Given the description of an element on the screen output the (x, y) to click on. 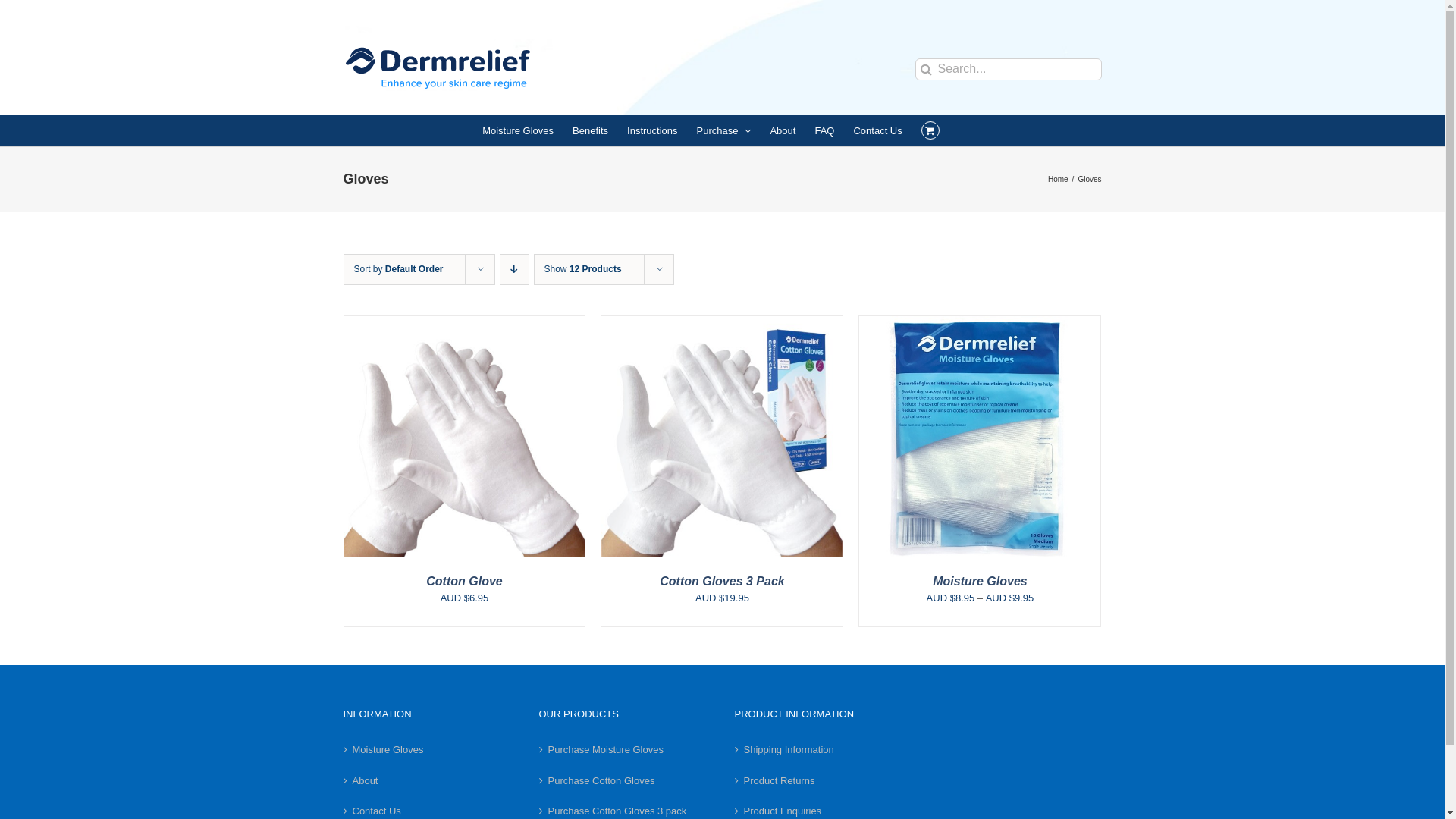
FAQ Element type: text (824, 130)
Moisture Gloves Element type: text (517, 130)
Cotton Gloves 3 Pack Element type: text (721, 580)
Purchase Moisture Gloves Element type: text (624, 749)
Moisture Gloves Element type: text (428, 749)
Home Element type: text (1058, 179)
About Element type: text (782, 130)
Sort by Default Order Element type: text (397, 268)
Moisture Gloves Element type: text (979, 580)
About Element type: text (428, 780)
Instructions Element type: text (652, 130)
Contact Us Element type: text (877, 130)
Shipping Information Element type: text (820, 749)
Purchase Element type: text (723, 130)
Cotton Glove Element type: text (464, 580)
Benefits Element type: text (590, 130)
Show 12 Products Element type: text (582, 268)
Product Returns Element type: text (820, 780)
Purchase Cotton Gloves Element type: text (624, 780)
